Given the description of an element on the screen output the (x, y) to click on. 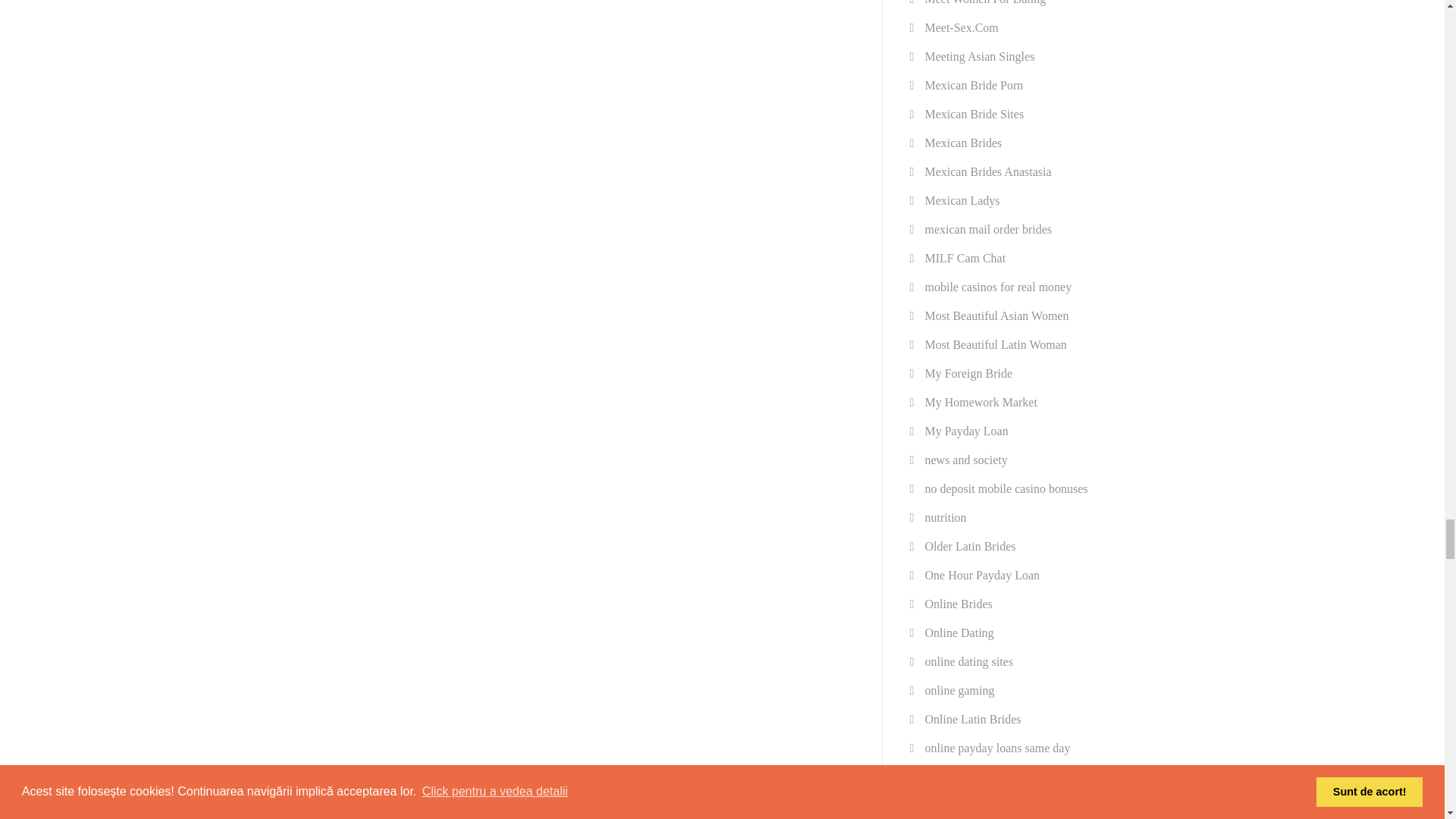
news and society (965, 460)
online gaming (959, 690)
nutrition (945, 517)
